Given the description of an element on the screen output the (x, y) to click on. 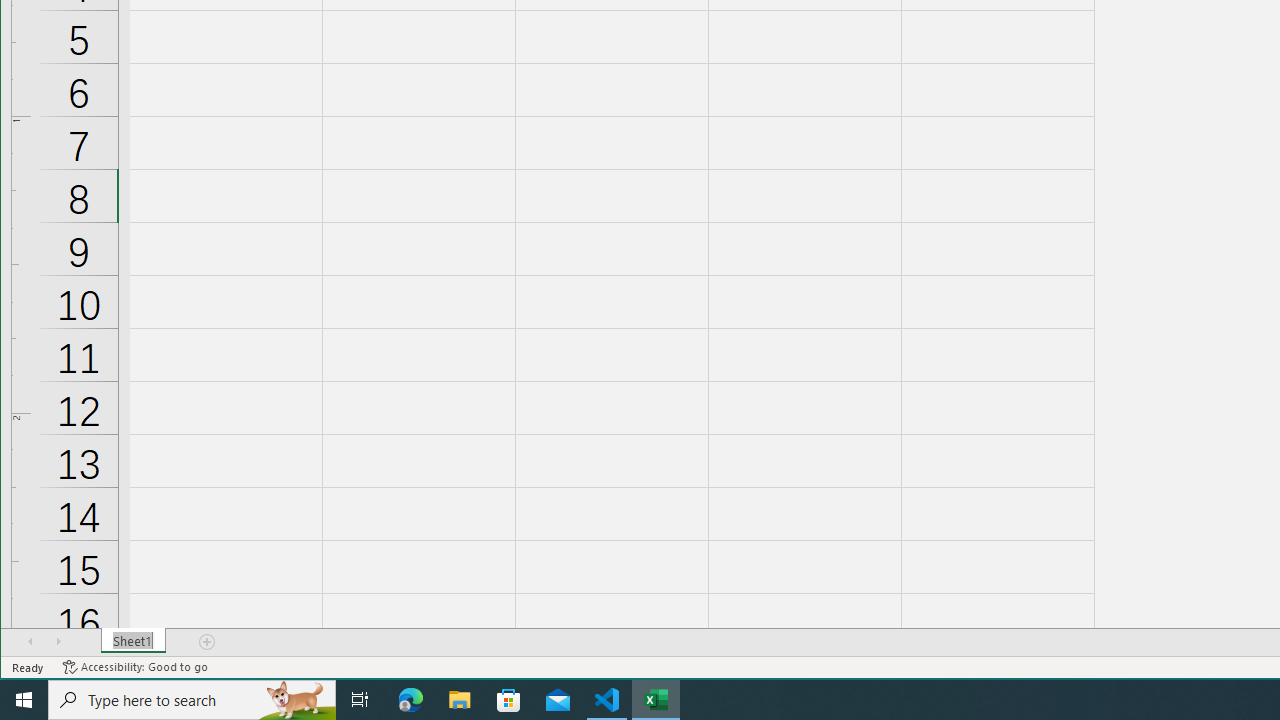
Start (24, 699)
Microsoft Edge (411, 699)
Microsoft Store (509, 699)
Excel - 1 running window (656, 699)
Sheet Tab (133, 641)
File Explorer (460, 699)
Visual Studio Code - 1 running window (607, 699)
Type here to search (191, 699)
Task View (359, 699)
